Given the description of an element on the screen output the (x, y) to click on. 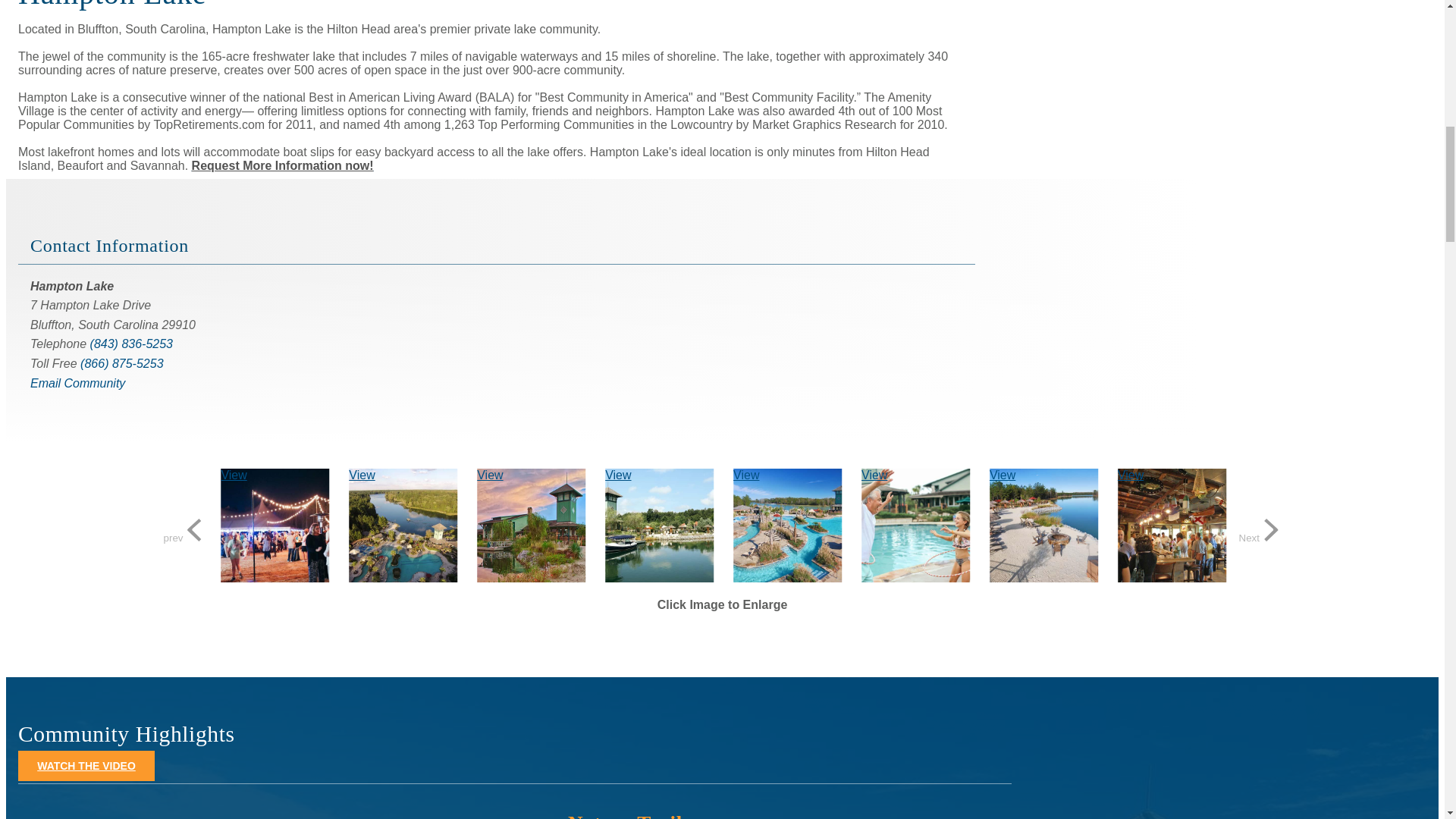
Request More Information now! (283, 164)
prev (184, 530)
Email Community (77, 382)
Next (1260, 530)
